Given the description of an element on the screen output the (x, y) to click on. 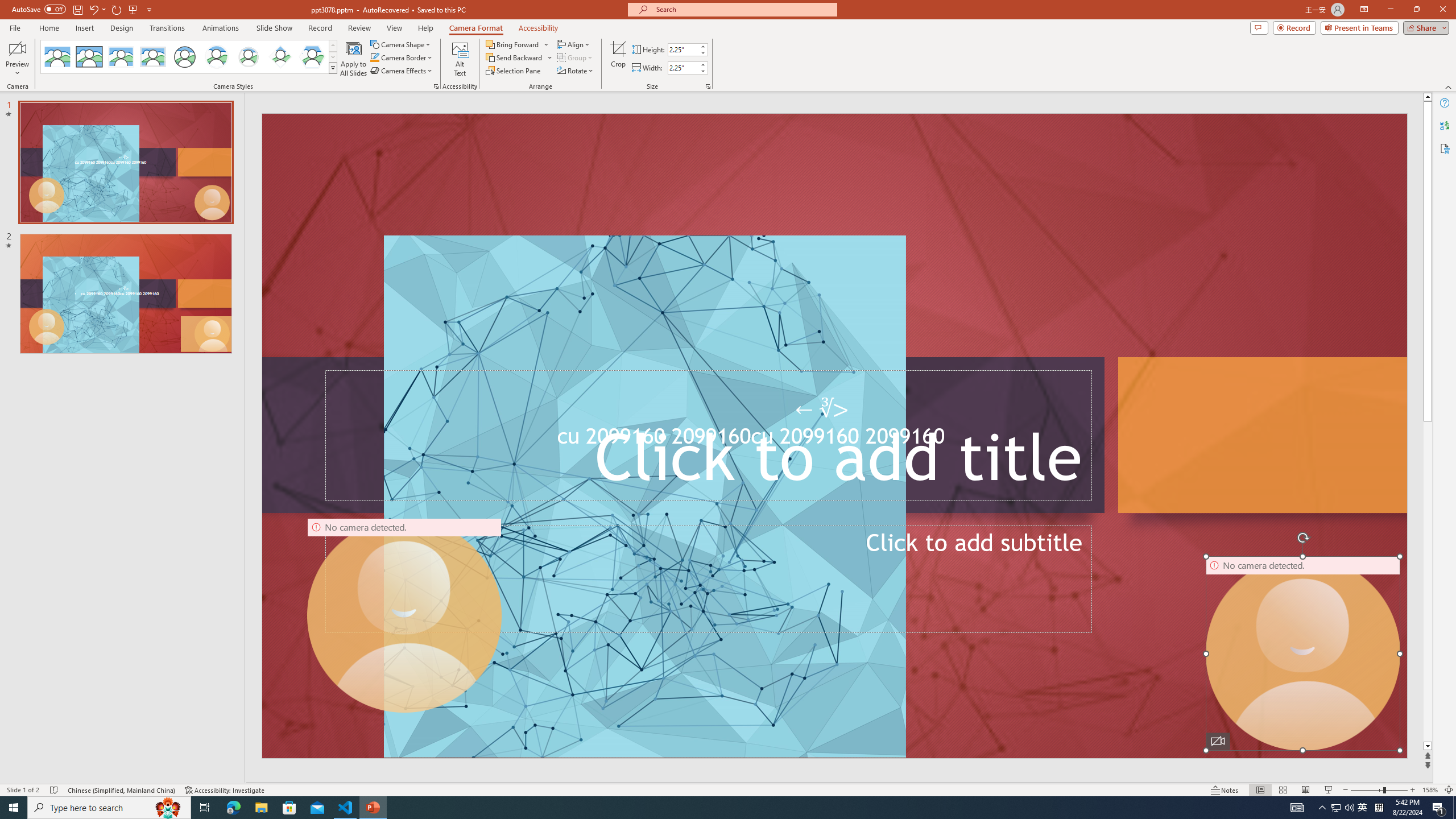
Bring Forward (517, 44)
